Given the description of an element on the screen output the (x, y) to click on. 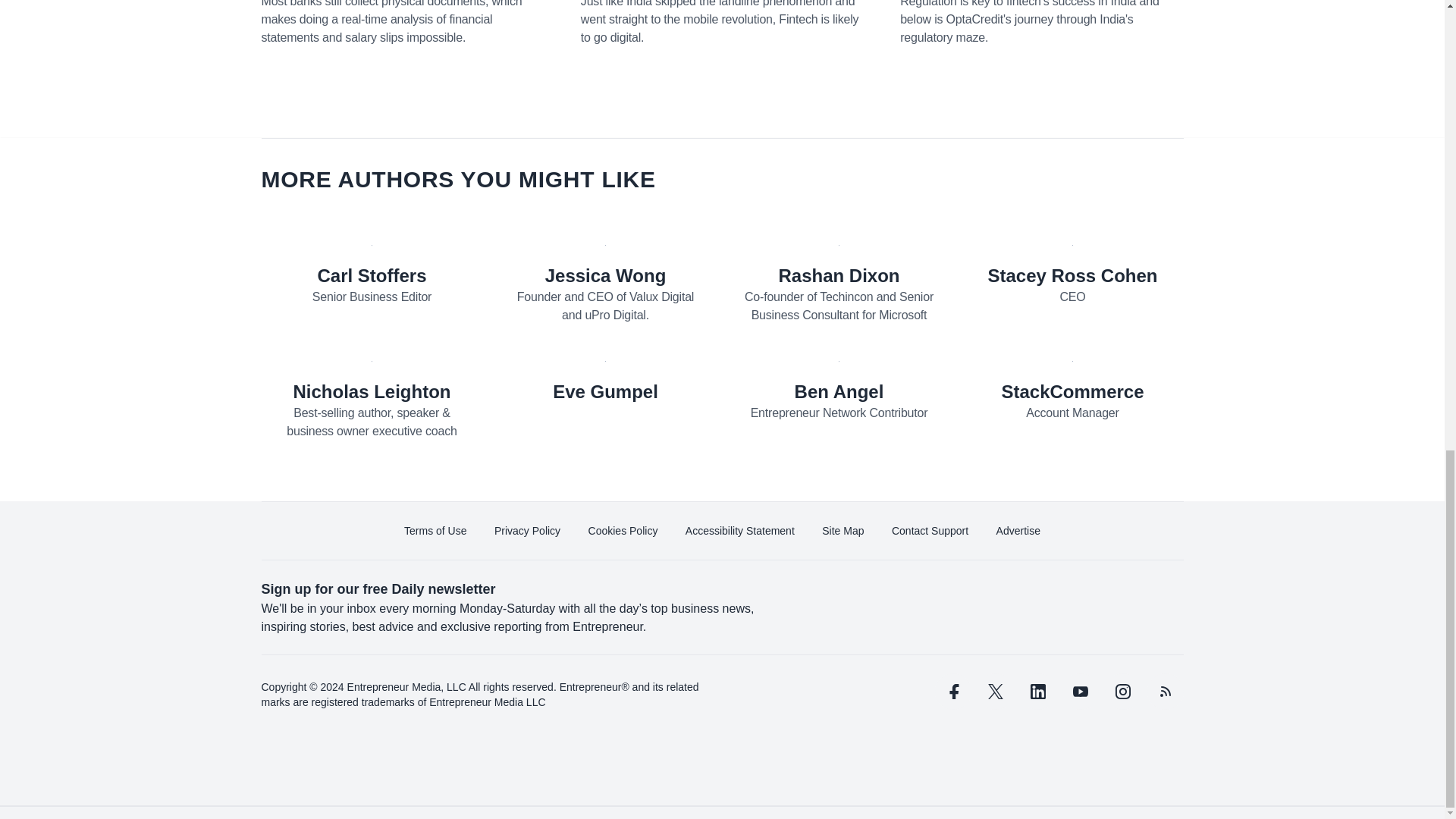
twitter (994, 691)
youtube (1079, 691)
facebook (952, 691)
instagram (1121, 691)
linkedin (1037, 691)
rss (1164, 691)
